Given the description of an element on the screen output the (x, y) to click on. 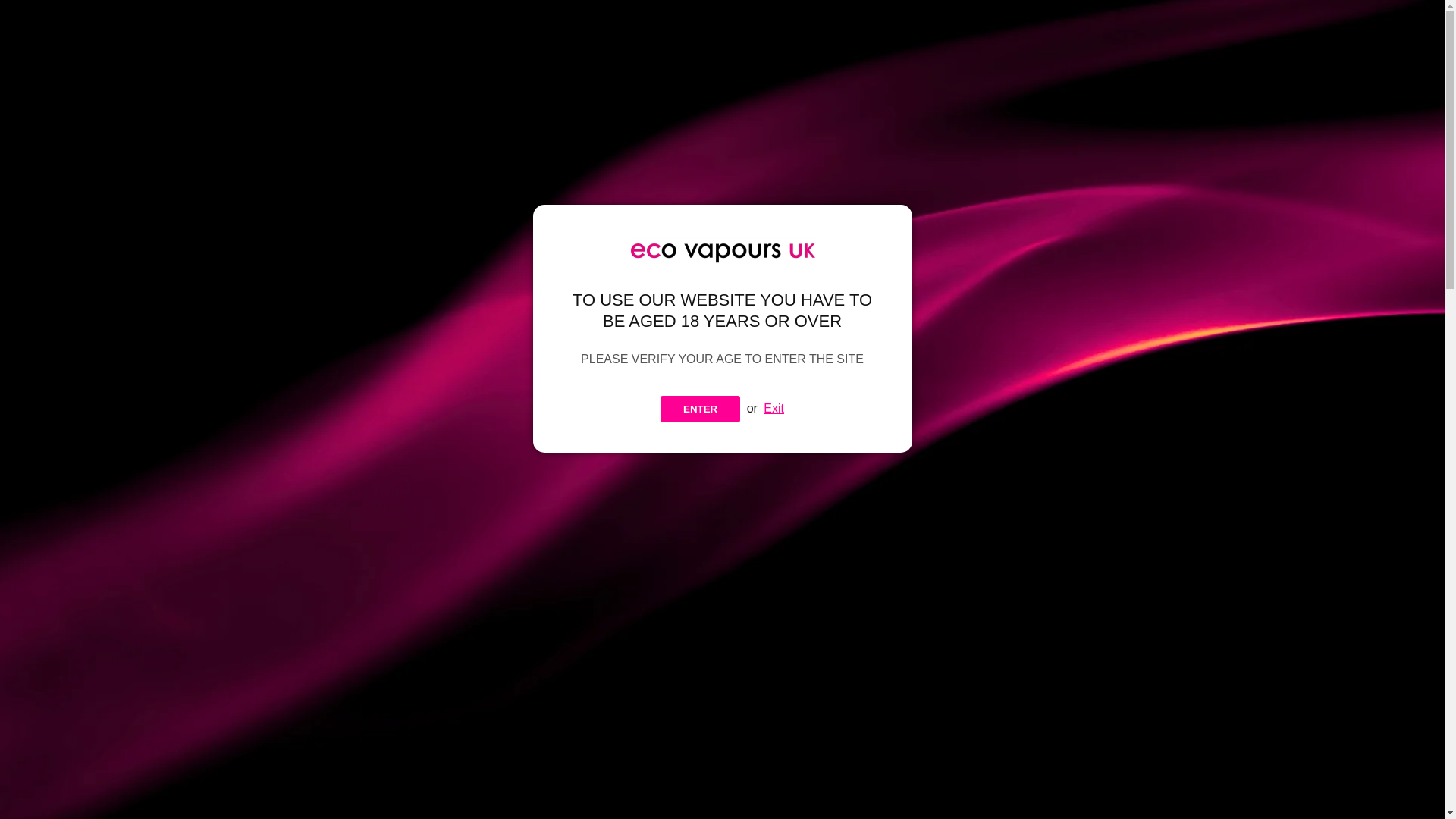
Skip to content (31, 17)
1 (768, 530)
ENTER (700, 408)
Exit (773, 408)
